Given the description of an element on the screen output the (x, y) to click on. 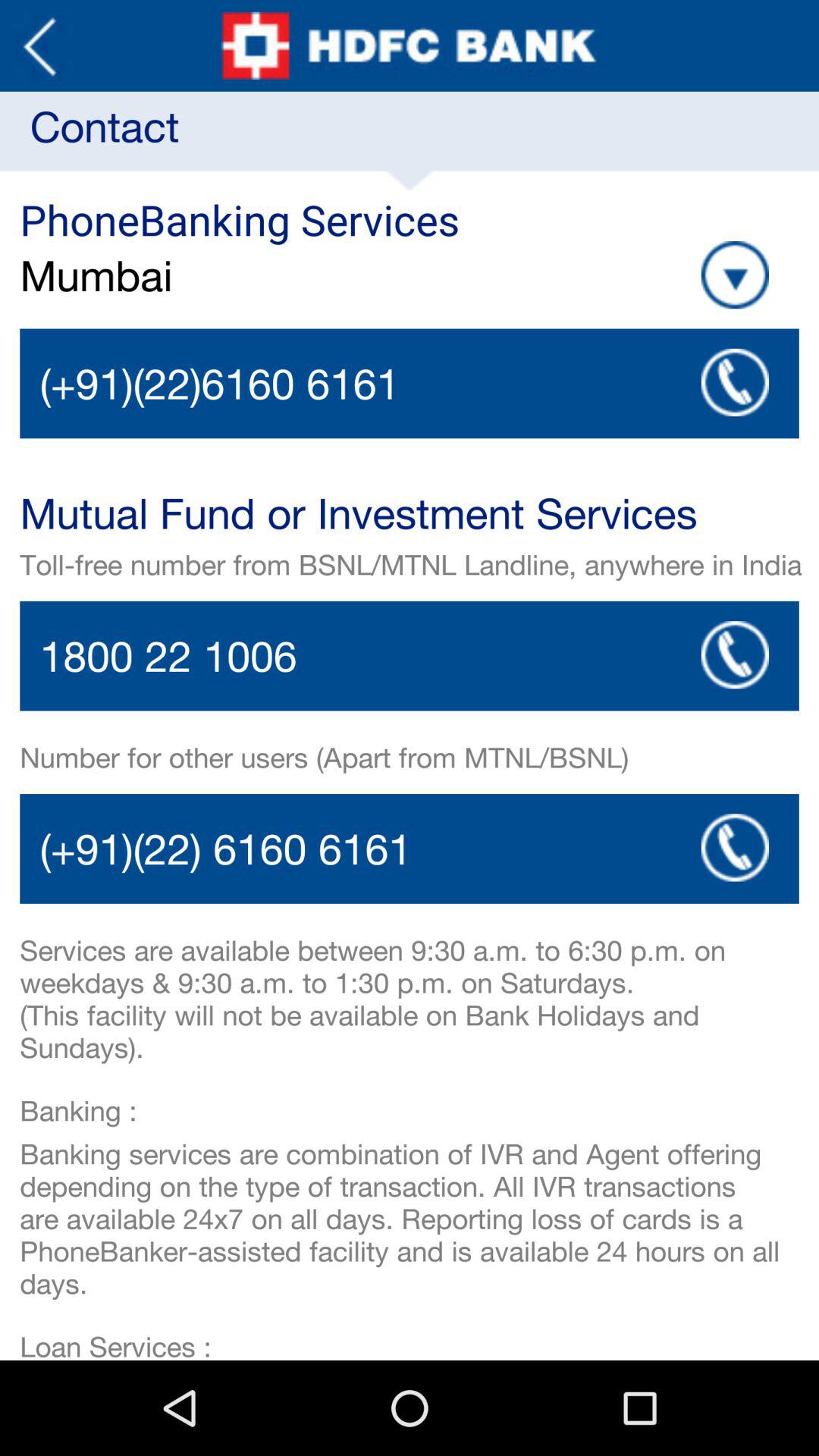
call this number (409, 655)
